Given the description of an element on the screen output the (x, y) to click on. 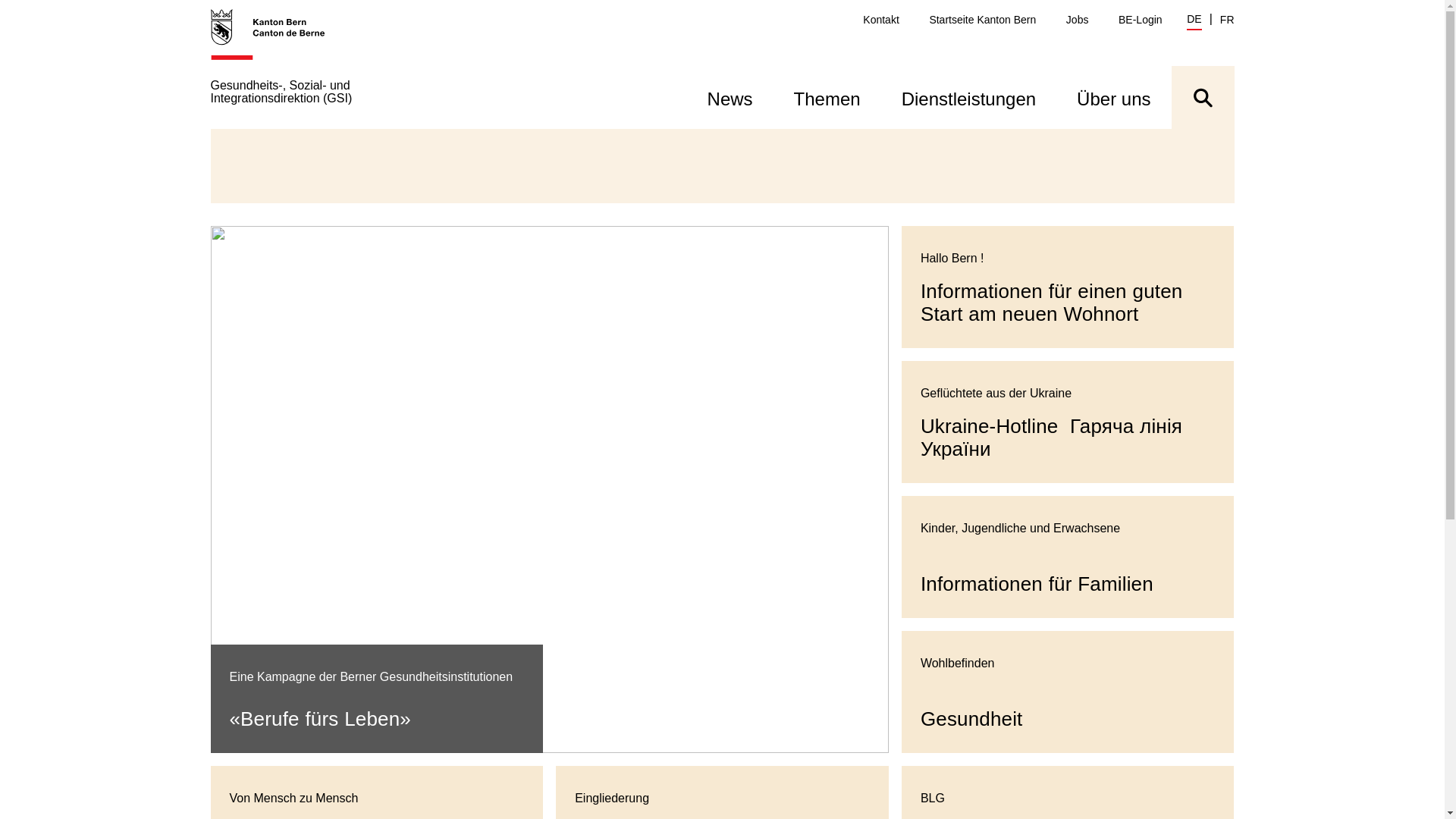
FR Element type: text (1227, 19)
Kontakt Element type: text (880, 19)
Gesundheit
Wohlbefinden Element type: text (1067, 691)
Dienstleistungen Element type: text (968, 96)
Startseite Kanton Bern Element type: text (981, 19)
Gesundheits-, Sozial- und Integrationsdirektion (GSI) Element type: text (331, 68)
BE-Login Element type: text (1140, 19)
Themen Element type: text (827, 96)
News Element type: text (730, 96)
Jobs Element type: text (1077, 19)
Suche ein- oder ausblenden Element type: text (1201, 96)
DE Element type: text (1193, 21)
